Given the description of an element on the screen output the (x, y) to click on. 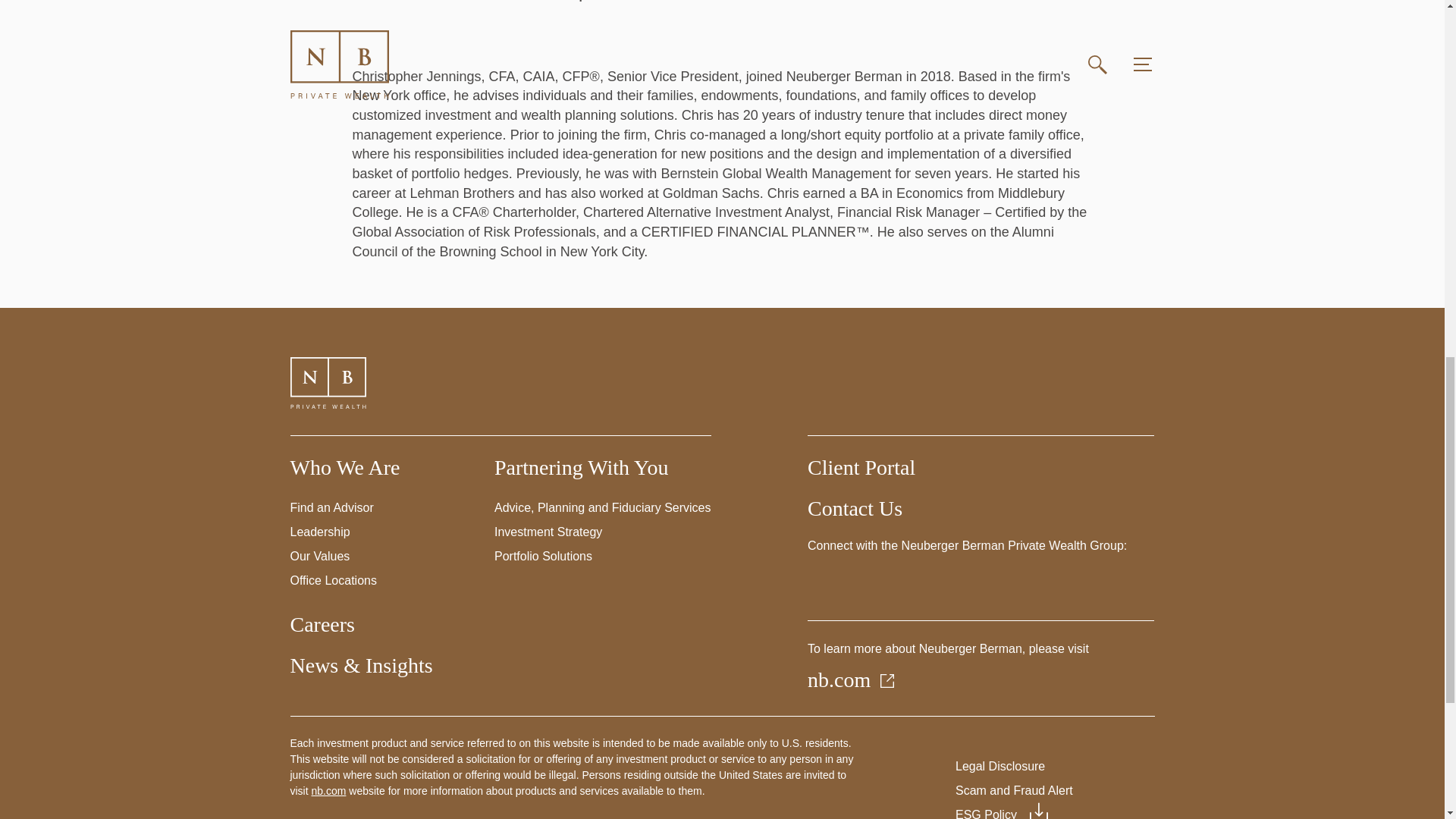
Find an Advisor (330, 507)
Our Values (319, 555)
nb.com (853, 679)
Investment Strategy (548, 531)
Office Locations (332, 580)
Leadership (319, 531)
Who We Are (343, 467)
Contact Us (855, 508)
Careers (322, 624)
Client Portal (861, 467)
